Given the description of an element on the screen output the (x, y) to click on. 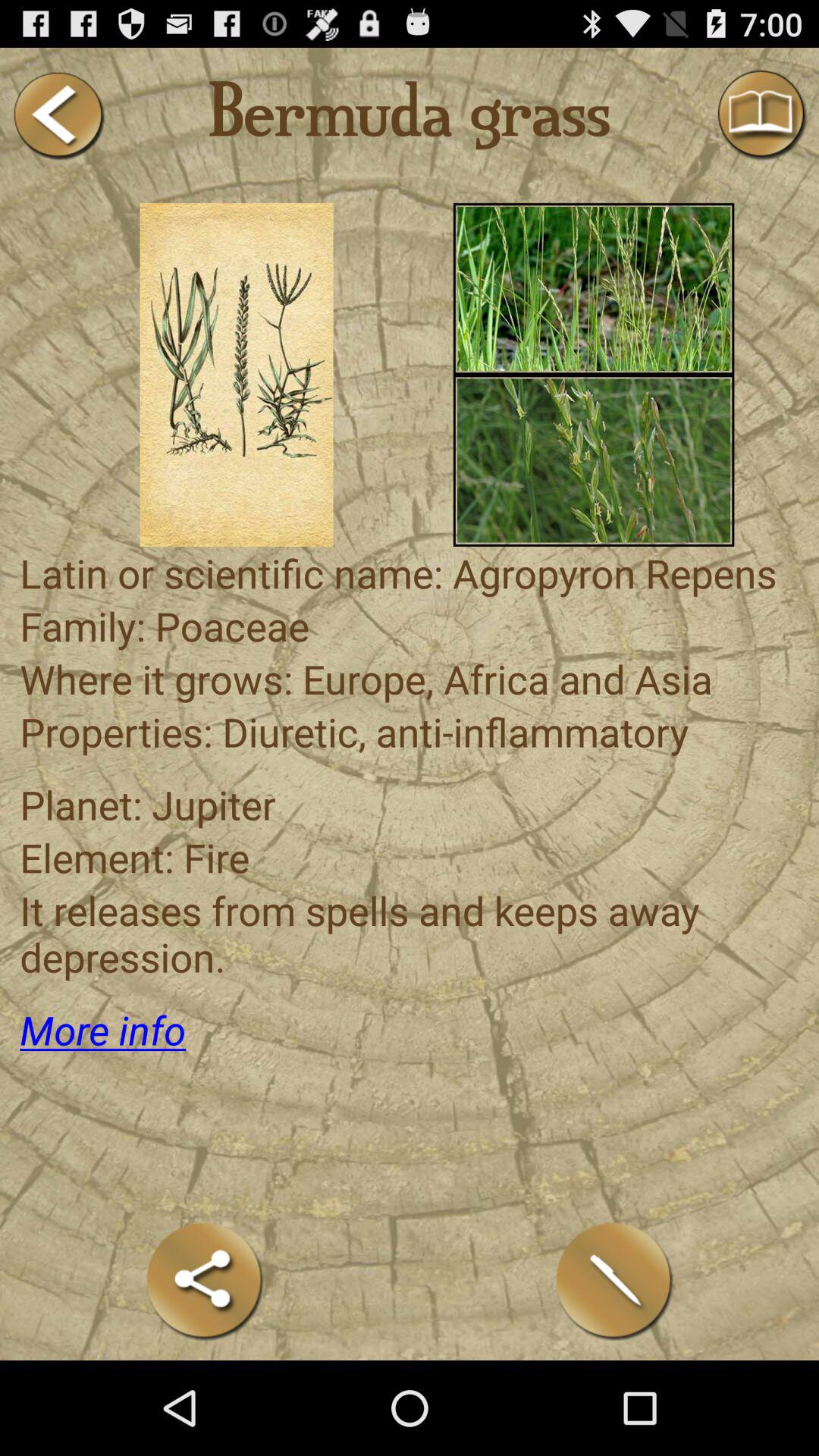
go to previous (57, 115)
